Given the description of an element on the screen output the (x, y) to click on. 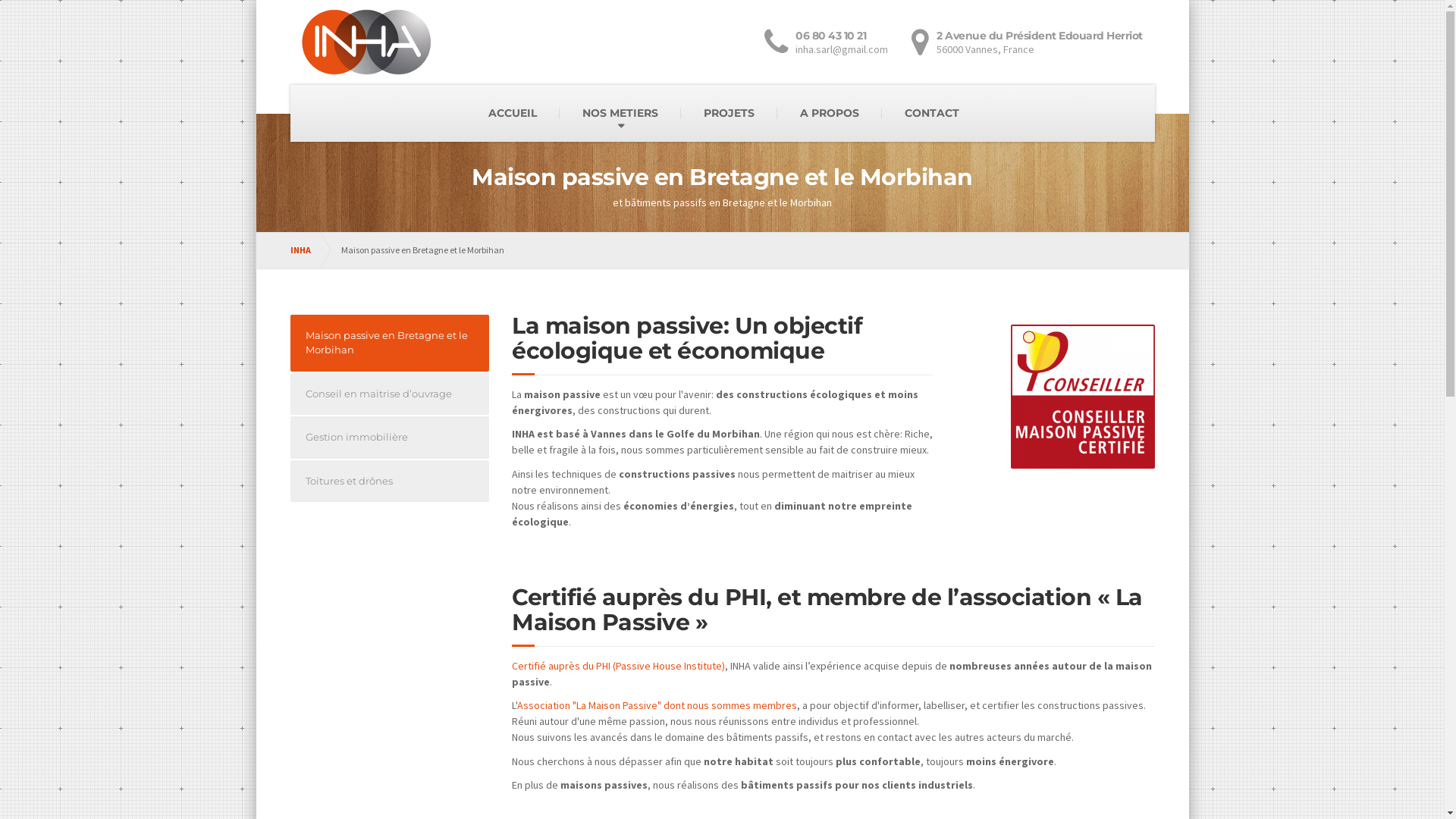
CONTACT Element type: text (931, 112)
INHA Element type: text (307, 249)
06 80 43 10 21
inha.sarl@gmail.com Element type: text (832, 42)
NOS METIERS Element type: text (619, 112)
Association "La Maison Passive" dont nous sommes membres Element type: text (657, 705)
PROJETS Element type: text (728, 112)
A PROPOS Element type: text (829, 112)
ACCUEIL Element type: text (512, 112)
Maison passive en Bretagne et le Morbihan Element type: text (389, 342)
